Given the description of an element on the screen output the (x, y) to click on. 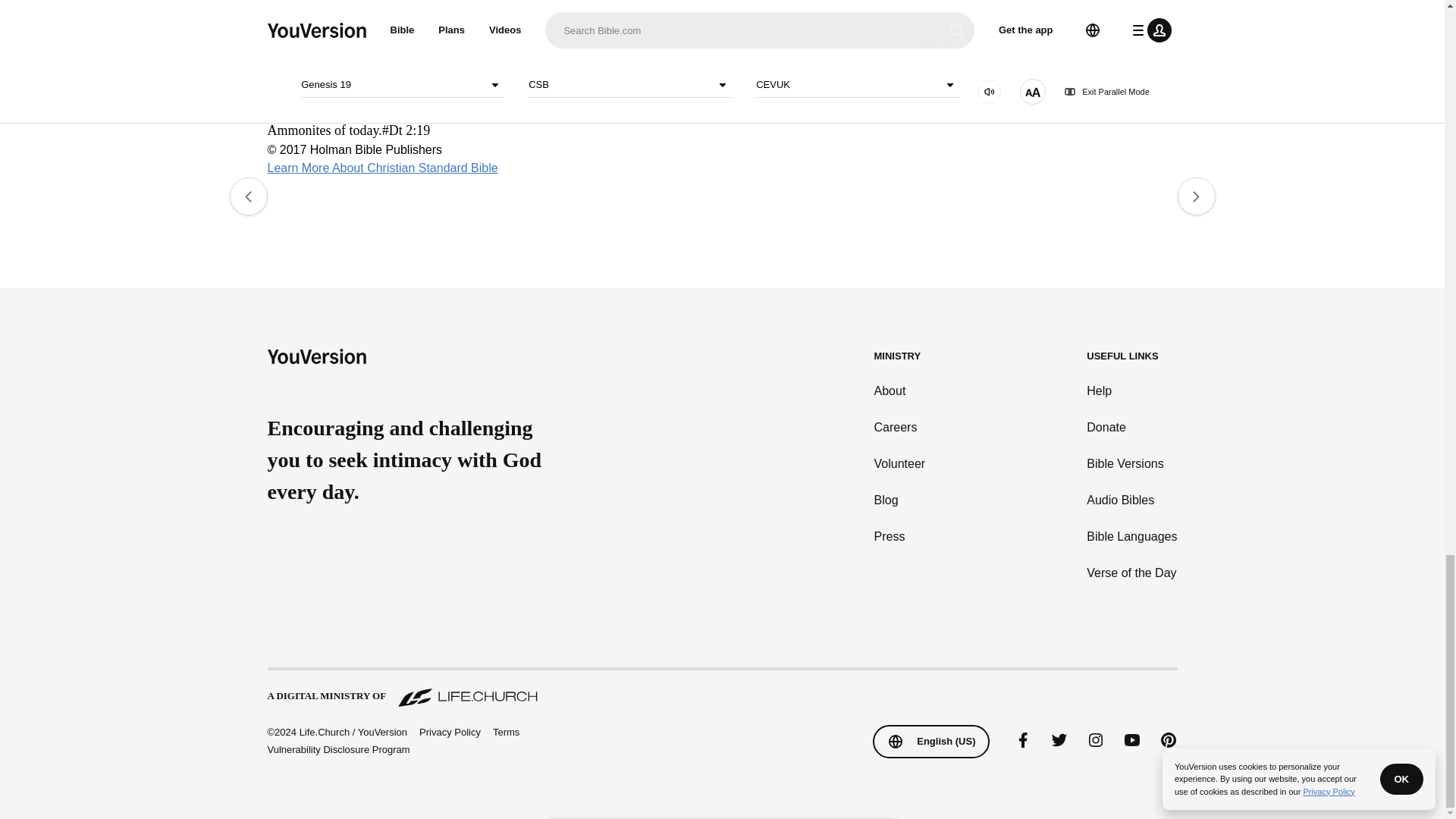
Help (1131, 390)
Vulnerability Disclosure Program (337, 749)
Blog (900, 499)
About (900, 390)
Learn More About Christian Standard Bible (381, 167)
Volunteer (900, 463)
Press (900, 536)
Audio Bibles (1131, 499)
Verse of the Day (1131, 572)
Donate (1131, 426)
A DIGITAL MINISTRY OF (721, 687)
Bible Versions (1131, 463)
Bible Languages (1131, 536)
Terms (506, 731)
Privacy Policy (449, 731)
